Given the description of an element on the screen output the (x, y) to click on. 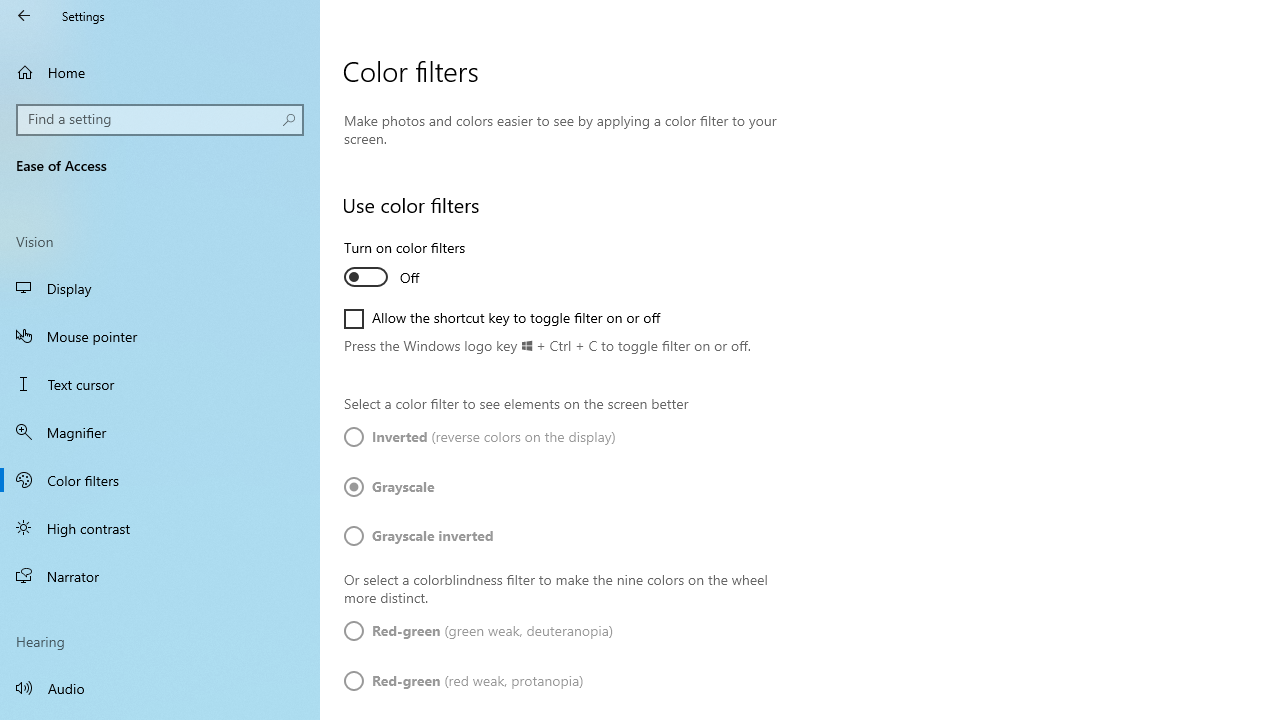
Magnifier (160, 431)
Search box, Find a setting (160, 119)
Inverted (reverse colors on the display) (479, 437)
Grayscale inverted (419, 535)
Allow the shortcut key to toggle filter on or off (502, 318)
Display (160, 287)
Mouse pointer (160, 335)
Red-green (red weak, protanopia) (463, 681)
Text cursor (160, 384)
Red-green (green weak, deuteranopia) (479, 631)
Audio (160, 687)
Narrator (160, 575)
Color filters (160, 479)
Home (160, 71)
High contrast (160, 527)
